Given the description of an element on the screen output the (x, y) to click on. 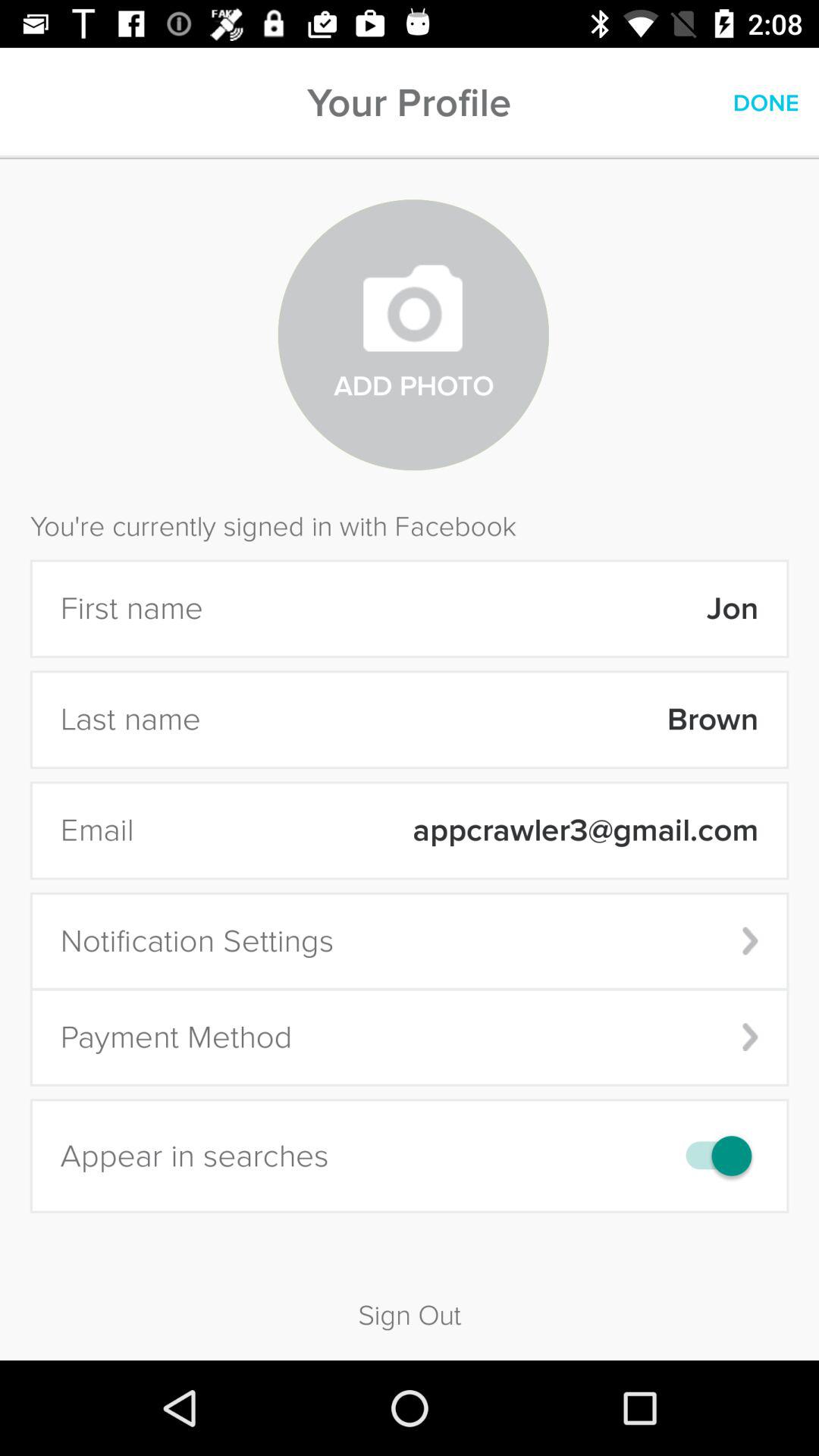
press the item next to first name item (490, 608)
